Given the description of an element on the screen output the (x, y) to click on. 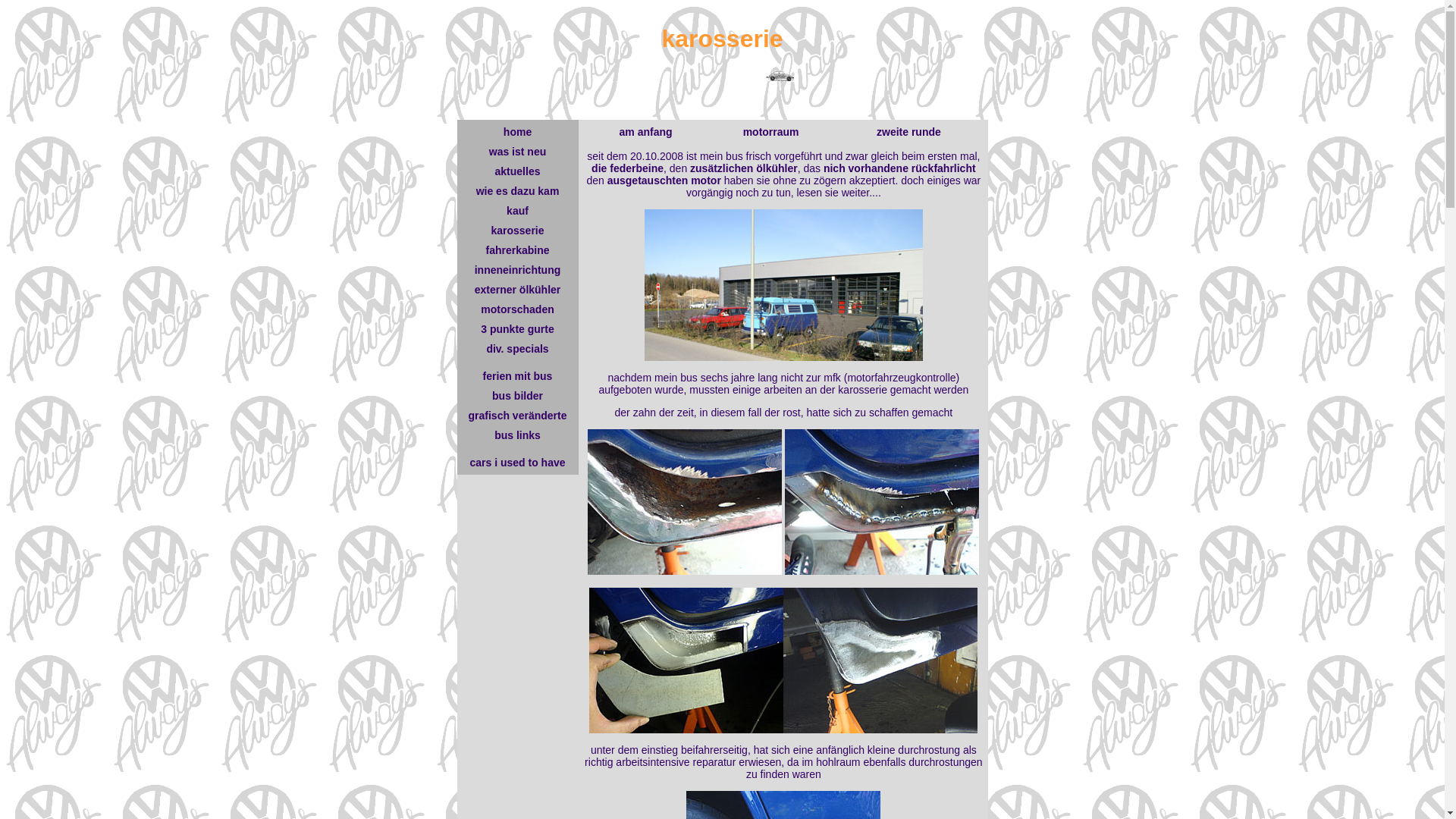
fahrerkabine Element type: text (517, 250)
ferien mit bus Element type: text (517, 376)
motorschaden Element type: text (516, 309)
was ist neu Element type: text (517, 151)
home Element type: text (517, 131)
ausgetauschten motor Element type: text (664, 180)
inneneinrichtung Element type: text (517, 269)
bus links Element type: text (517, 435)
3 punkte gurte Element type: text (516, 329)
karosserie Element type: text (516, 230)
am anfang Element type: text (645, 131)
div. specials Element type: text (517, 348)
die federbeine Element type: text (627, 168)
kauf Element type: text (517, 210)
cars i used to have Element type: text (516, 462)
motorraum Element type: text (771, 131)
bus bilder Element type: text (517, 395)
wie es dazu kam Element type: text (517, 191)
zweite runde Element type: text (908, 131)
